Given the description of an element on the screen output the (x, y) to click on. 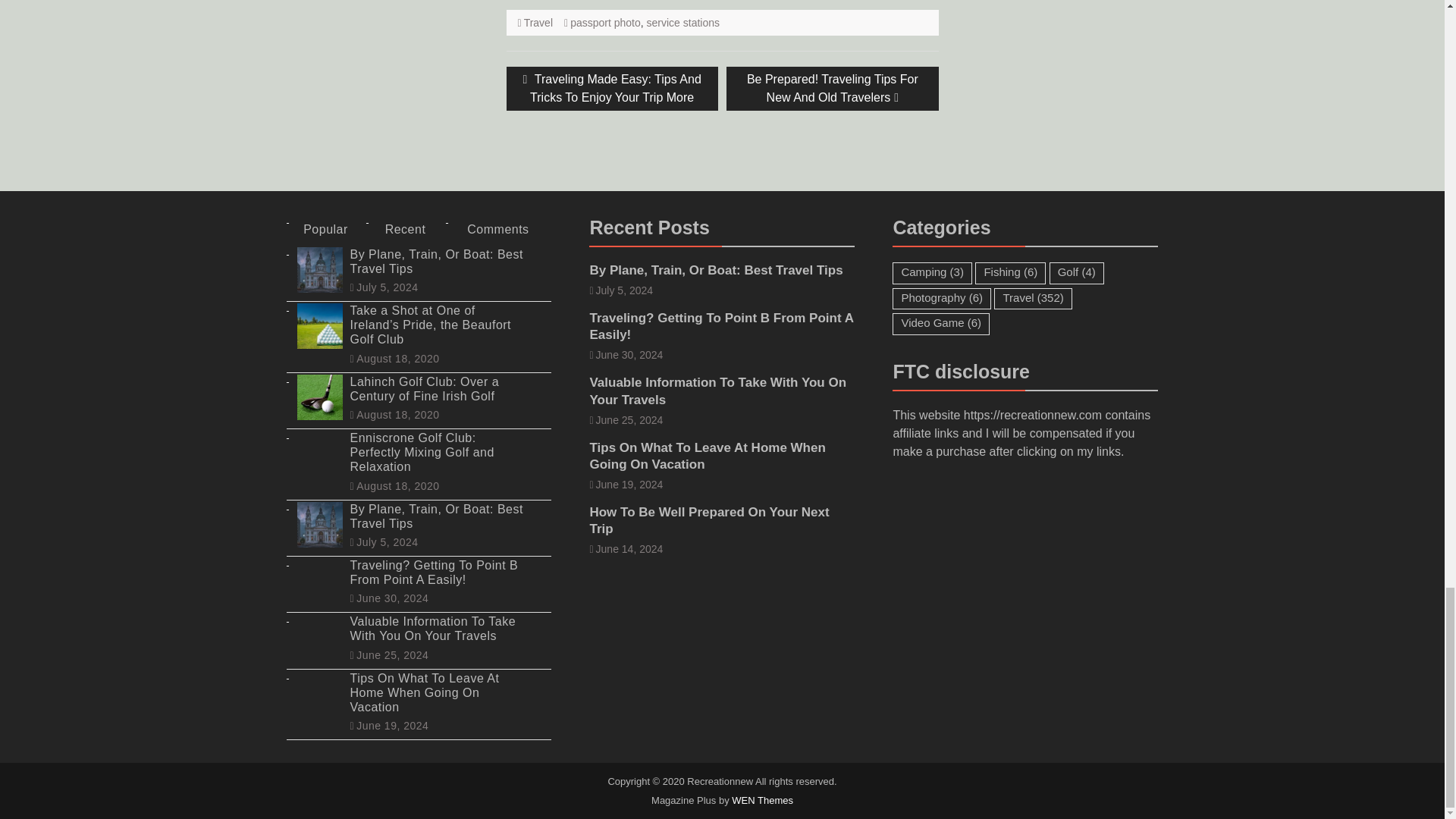
passport photo (605, 22)
service stations (682, 22)
Travel (538, 22)
